Given the description of an element on the screen output the (x, y) to click on. 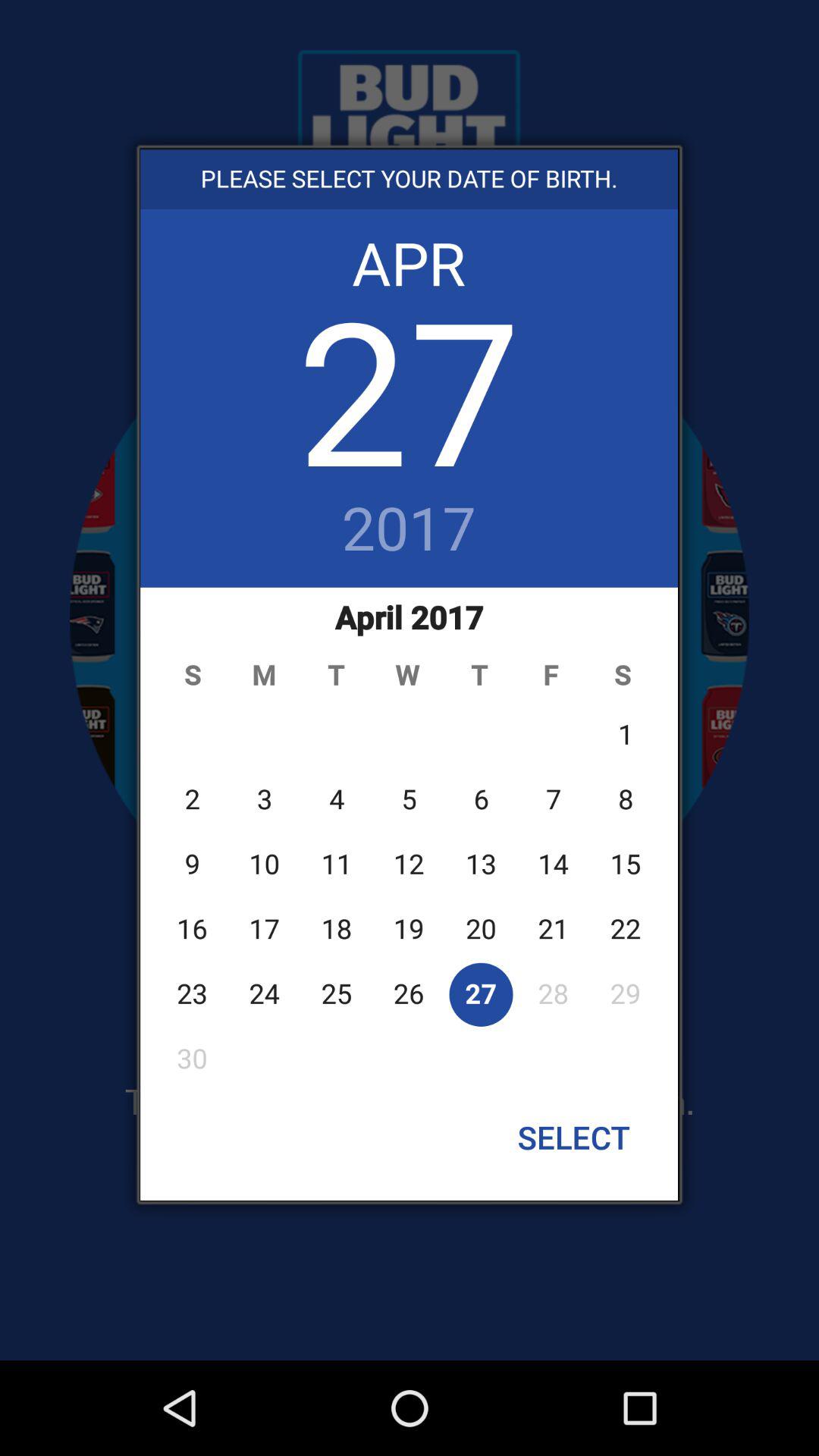
click the icon below 2017 item (409, 838)
